Given the description of an element on the screen output the (x, y) to click on. 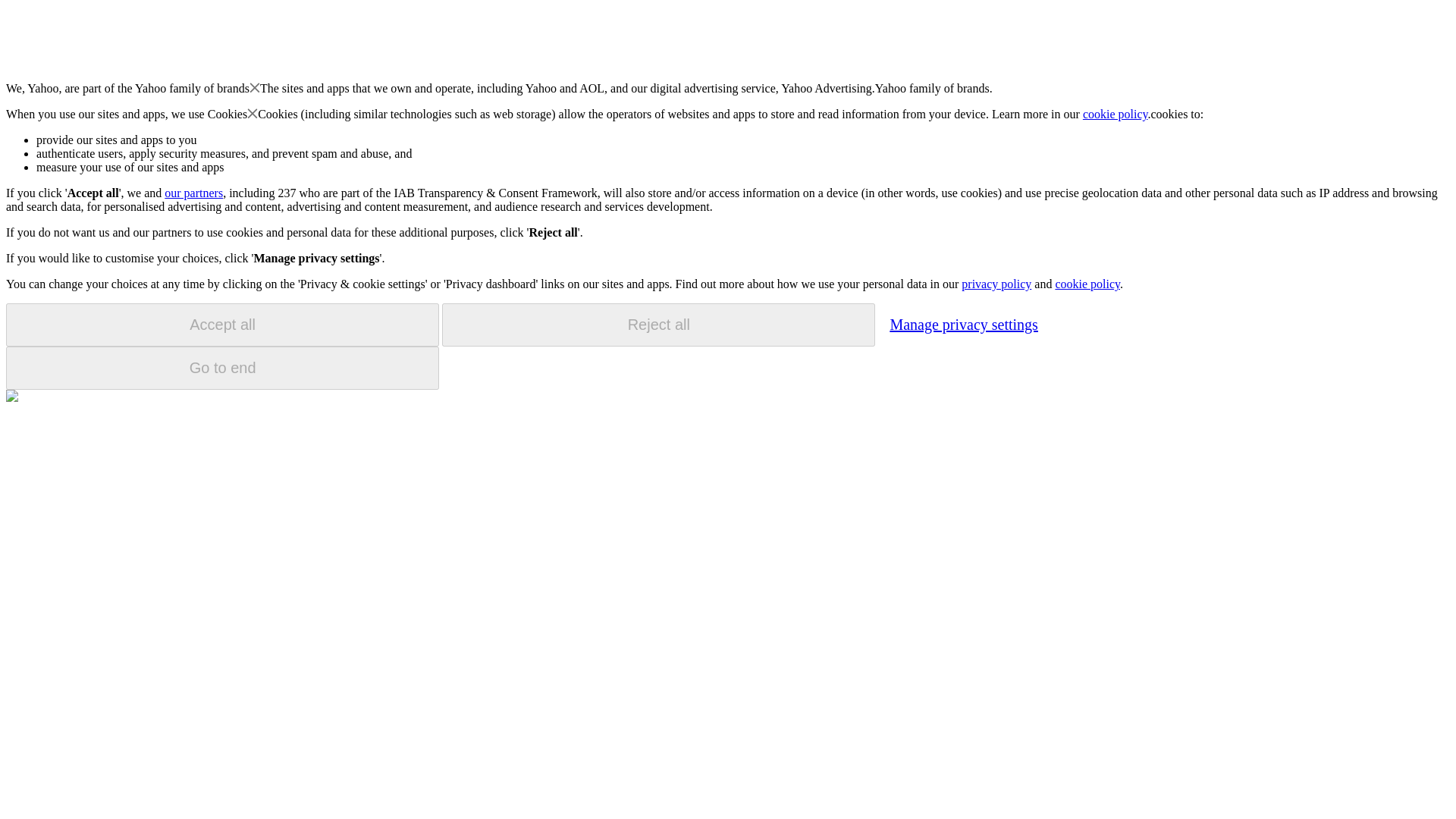
cookie policy (1115, 113)
our partners (193, 192)
cookie policy (1086, 283)
Manage privacy settings (963, 323)
Reject all (658, 324)
privacy policy (995, 283)
Accept all (222, 324)
Go to end (222, 367)
